Given the description of an element on the screen output the (x, y) to click on. 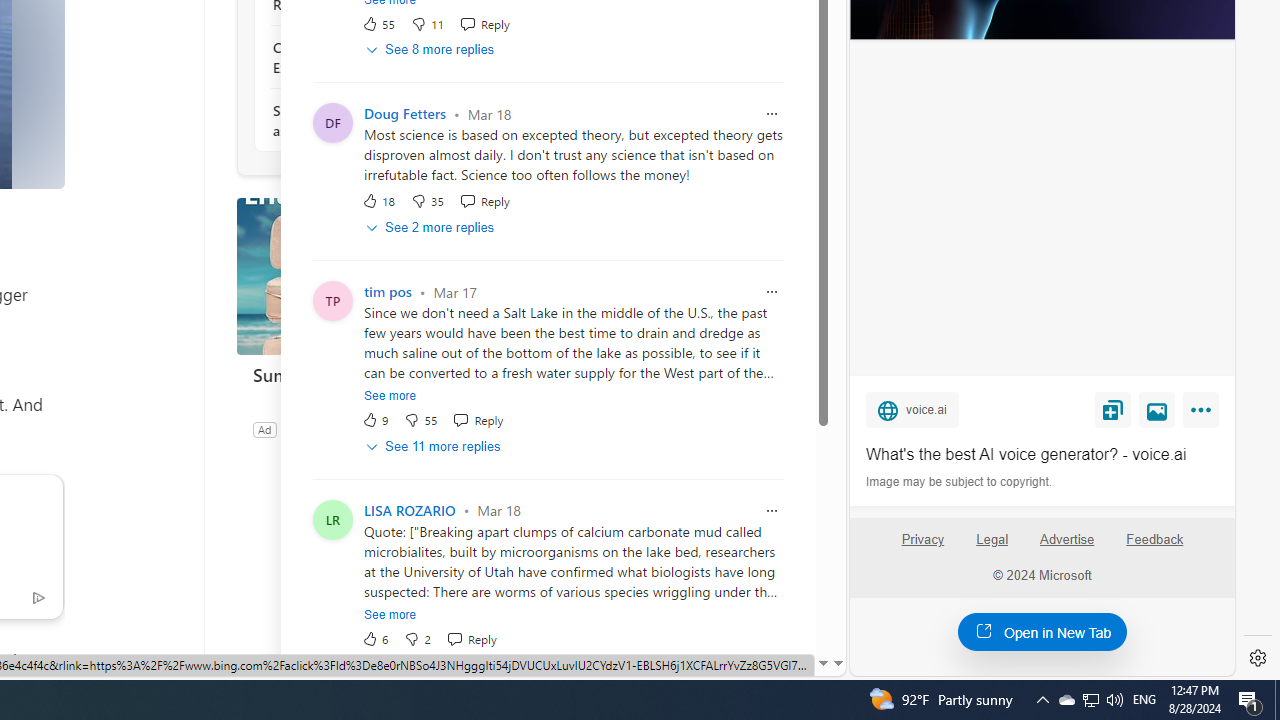
Legal (992, 547)
Profile Picture (333, 519)
See 11 more replies (434, 446)
Dislike (417, 637)
Save (1112, 409)
Reply Reply Comment (471, 637)
What's the best AI voice generator? - voice.ai (1042, 454)
See more (390, 614)
Legal (991, 539)
Ad (264, 429)
Open in New Tab (1042, 631)
18 Like (378, 200)
